Given the description of an element on the screen output the (x, y) to click on. 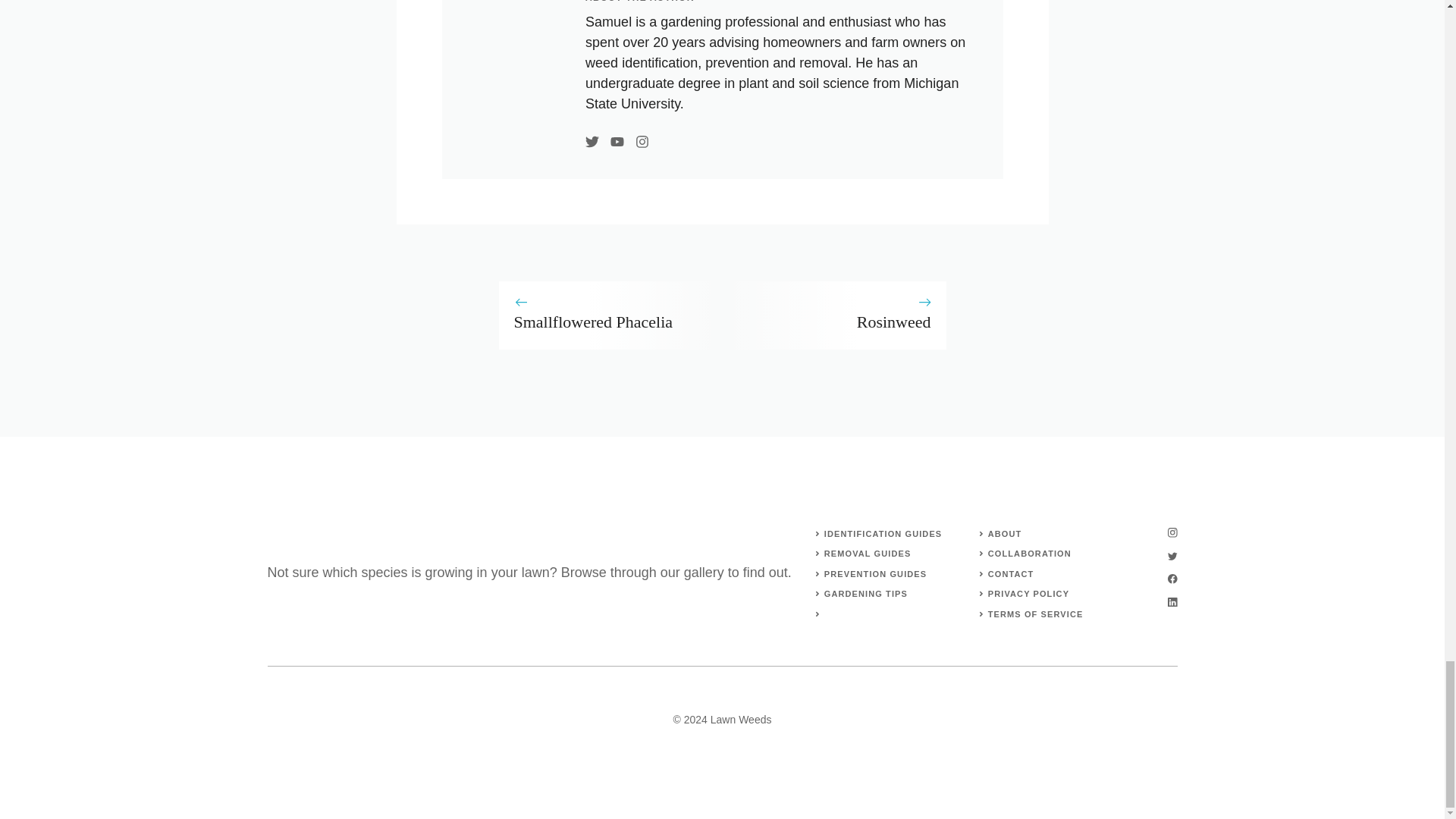
CONTACT (1010, 573)
PRIVACY POLICY (1028, 593)
TERMS OF SERVICE (1035, 614)
ABOUT (1005, 533)
Rosinweed (894, 321)
Smallflowered Phacelia (592, 321)
